Given the description of an element on the screen output the (x, y) to click on. 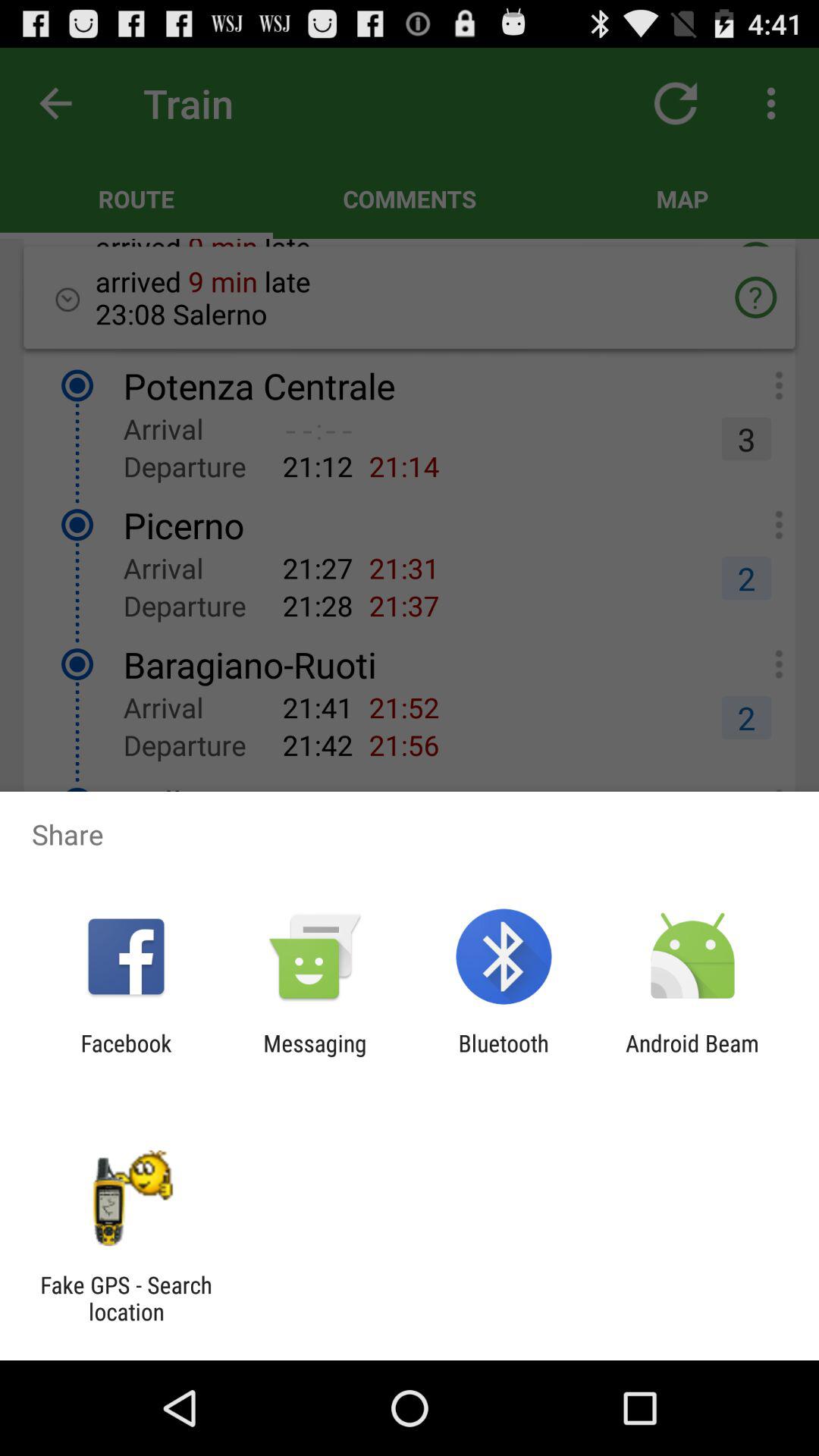
launch the app at the bottom right corner (692, 1056)
